Given the description of an element on the screen output the (x, y) to click on. 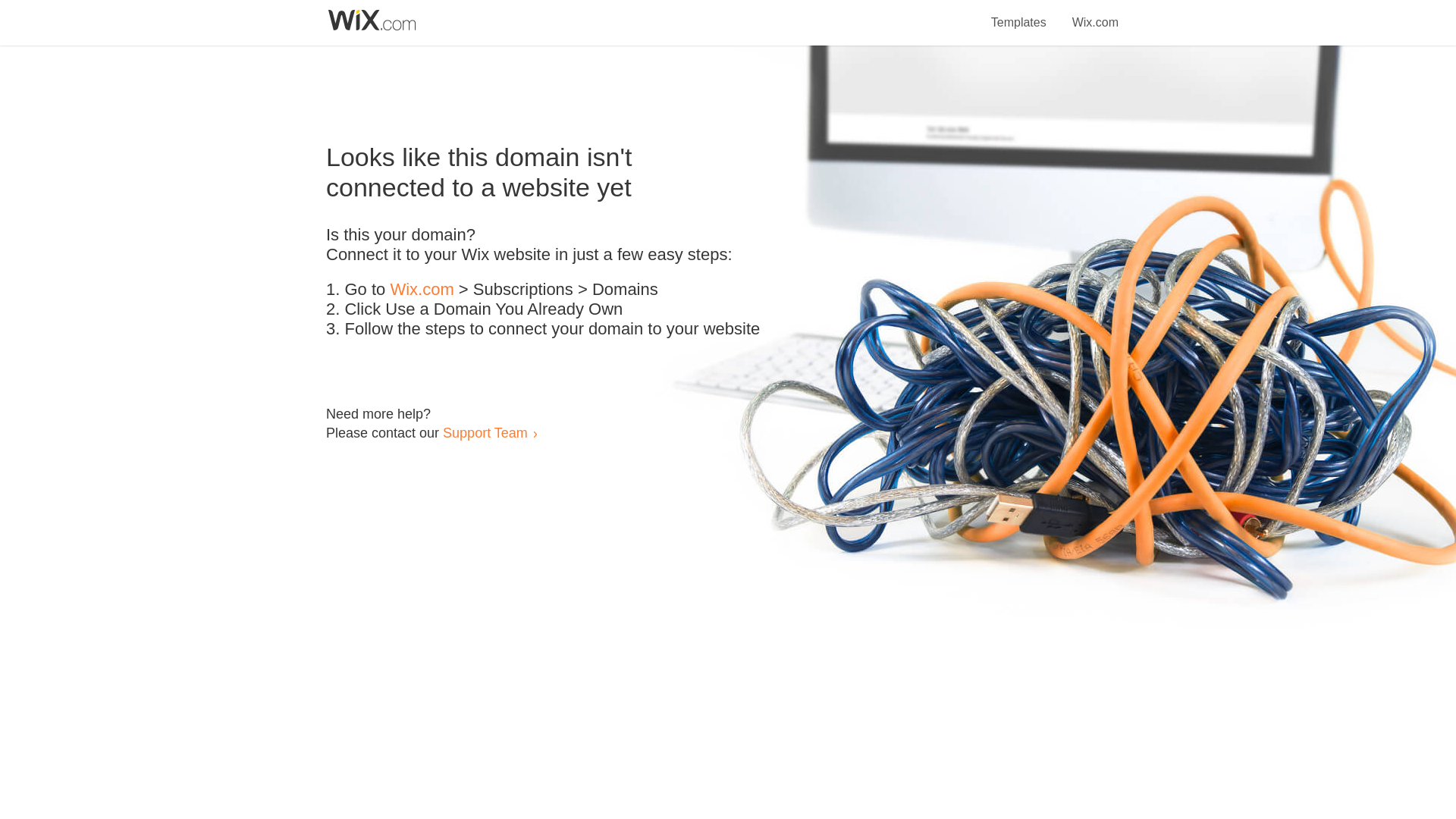
Wix.com (1095, 14)
Templates (1018, 14)
Wix.com (421, 289)
Support Team (484, 432)
